Given the description of an element on the screen output the (x, y) to click on. 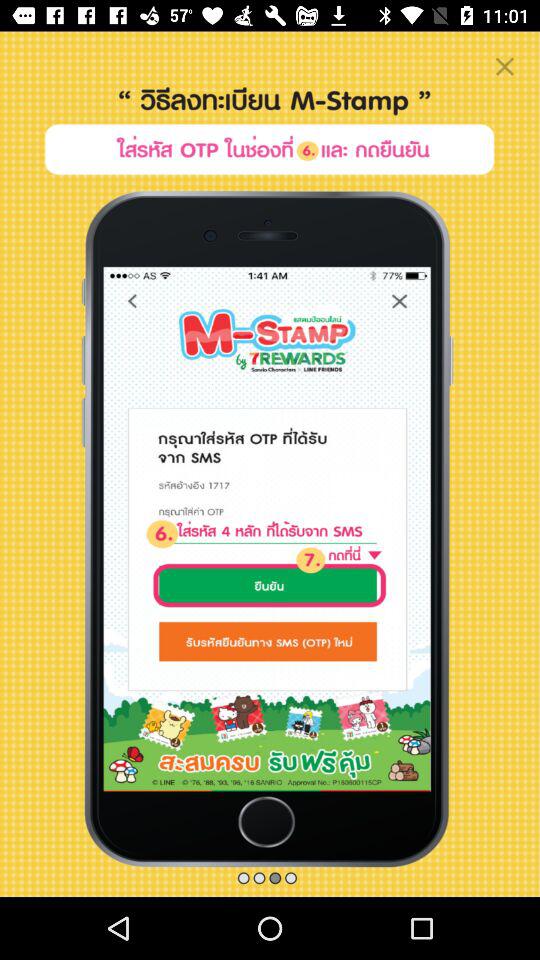
close window (504, 66)
